Given the description of an element on the screen output the (x, y) to click on. 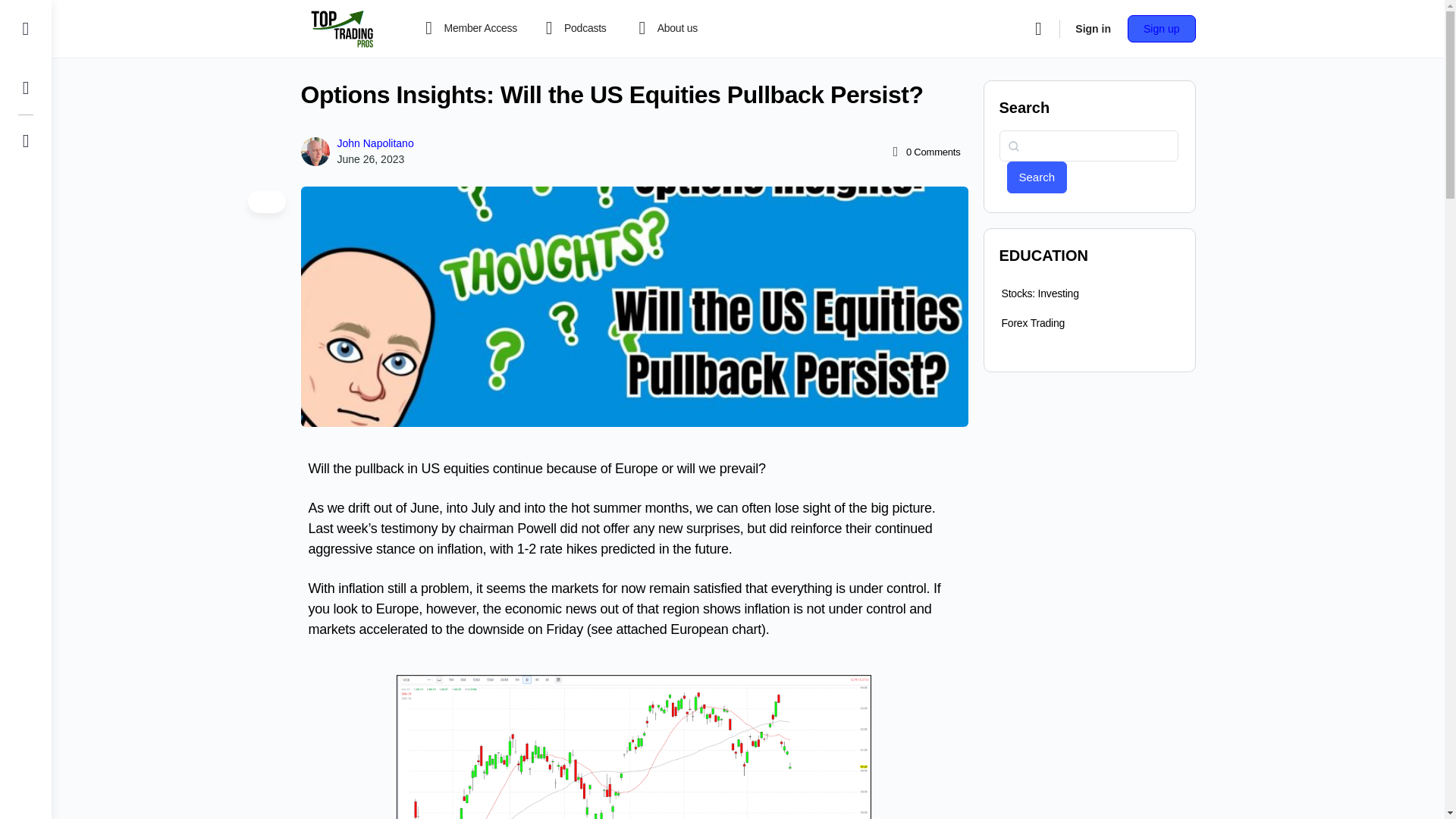
Member Access (468, 28)
Podcasts (573, 28)
About us (671, 28)
June 26, 2023 (370, 159)
Sign in (1092, 28)
Sign up (1160, 28)
John Napolitano (374, 143)
0 Comments (924, 152)
